Given the description of an element on the screen output the (x, y) to click on. 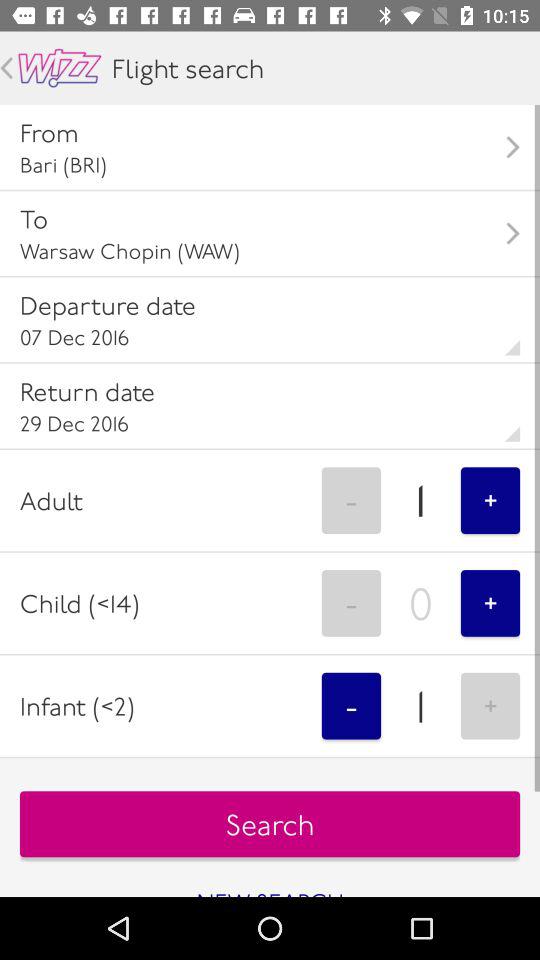
choose the icon next to the adult icon (351, 500)
